Given the description of an element on the screen output the (x, y) to click on. 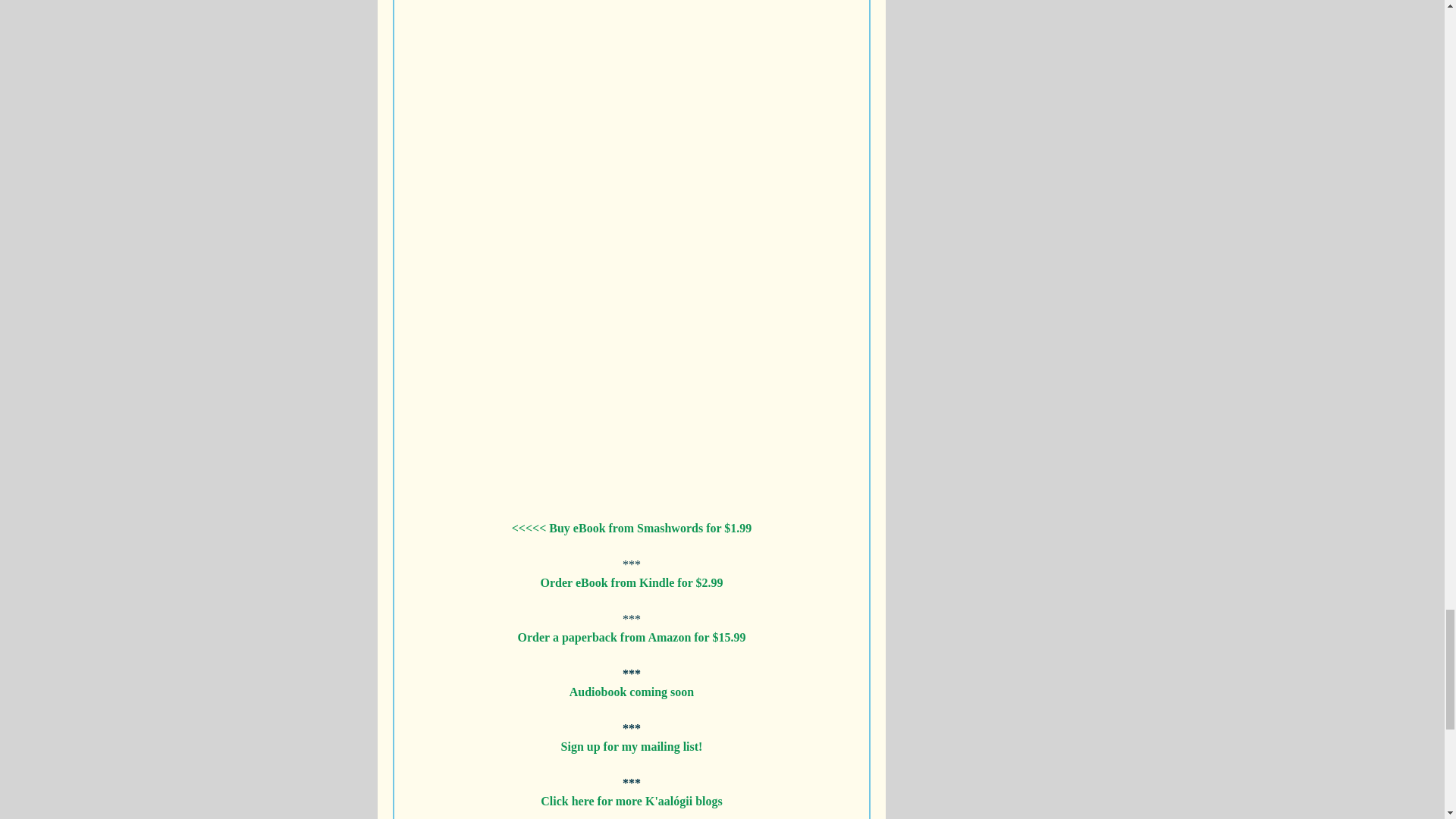
Sign up for my mailing list! (630, 746)
